Given the description of an element on the screen output the (x, y) to click on. 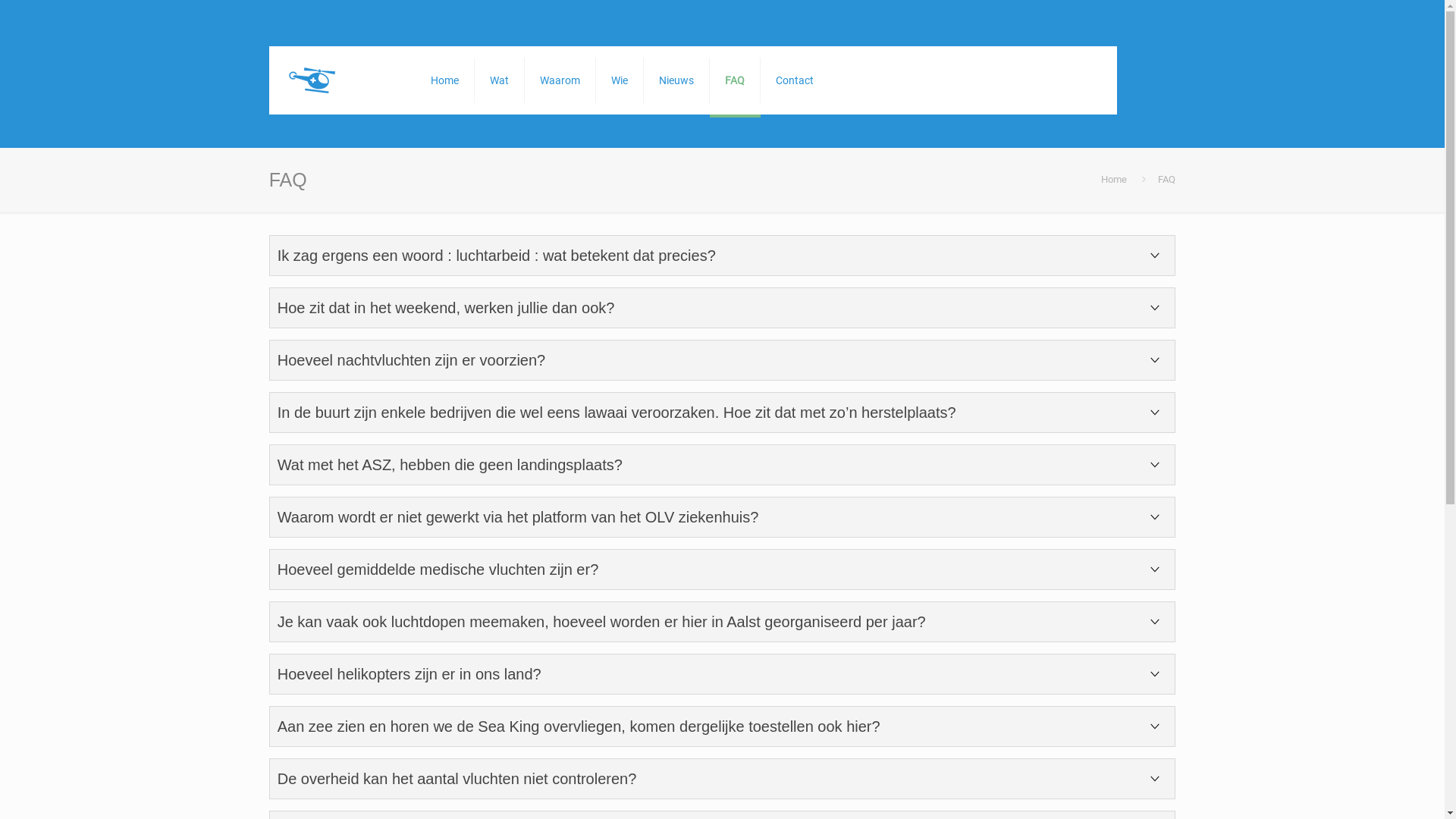
Waarom Element type: text (560, 80)
Wat Element type: text (499, 80)
Nieuws Element type: text (676, 80)
FAQ Element type: text (734, 80)
Heli Haven Aalst Element type: hover (338, 80)
Home Element type: text (1113, 179)
Contact Element type: text (794, 80)
Home Element type: text (444, 80)
Wie Element type: text (619, 80)
